Given the description of an element on the screen output the (x, y) to click on. 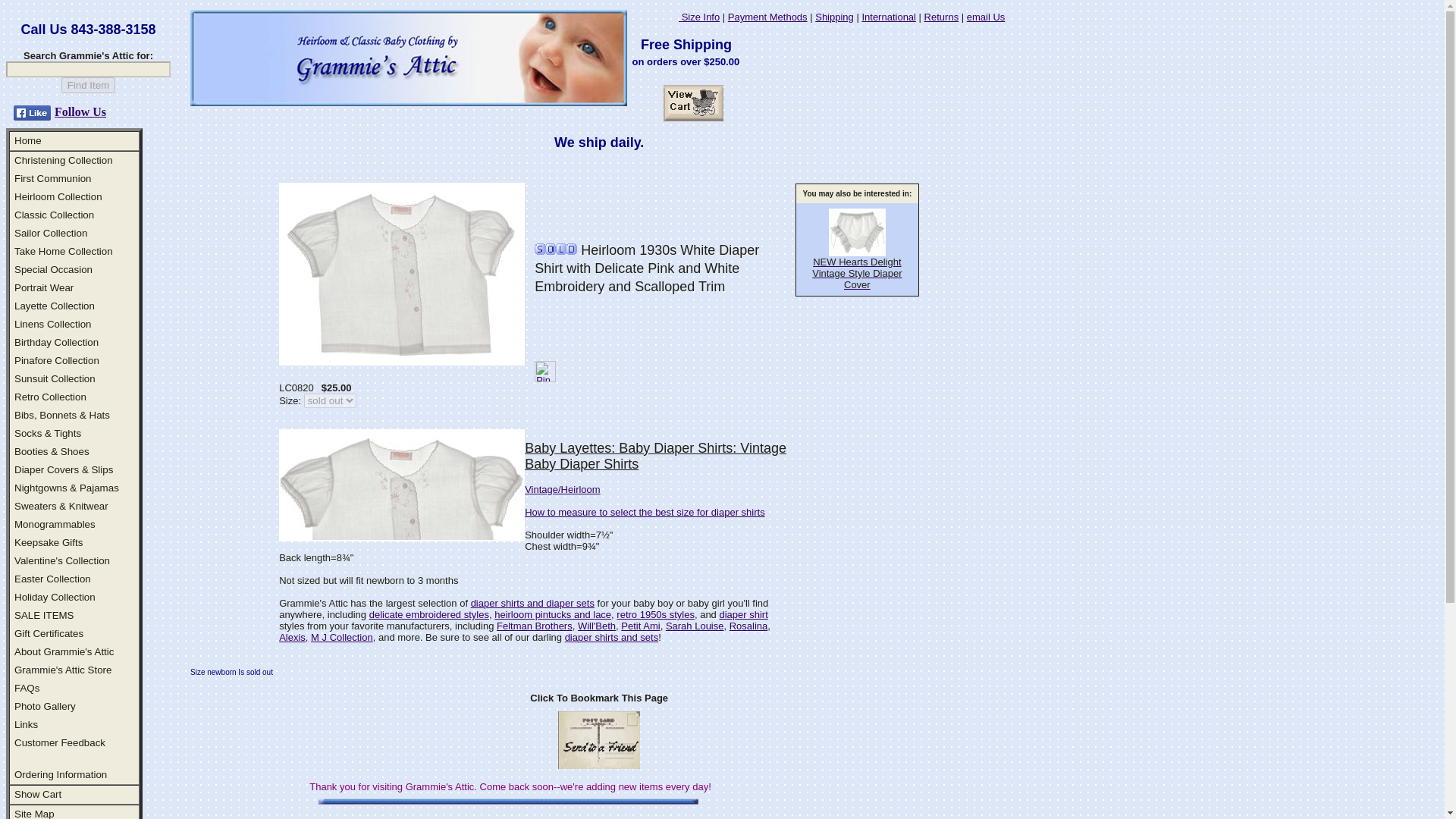
Follow Us (80, 111)
Gift Certificates (48, 633)
Take Home Collection (63, 251)
Heirloom Collection (57, 196)
Grammie's Attic Store (63, 669)
Valentine's Collection (62, 560)
Keepsake Gifts (48, 542)
Pin It (545, 371)
FAQs (26, 687)
Special Occasion (53, 269)
First Communion (52, 178)
Holiday Collection (55, 596)
Home (28, 140)
Birthday Collection (56, 342)
Links (25, 724)
